Given the description of an element on the screen output the (x, y) to click on. 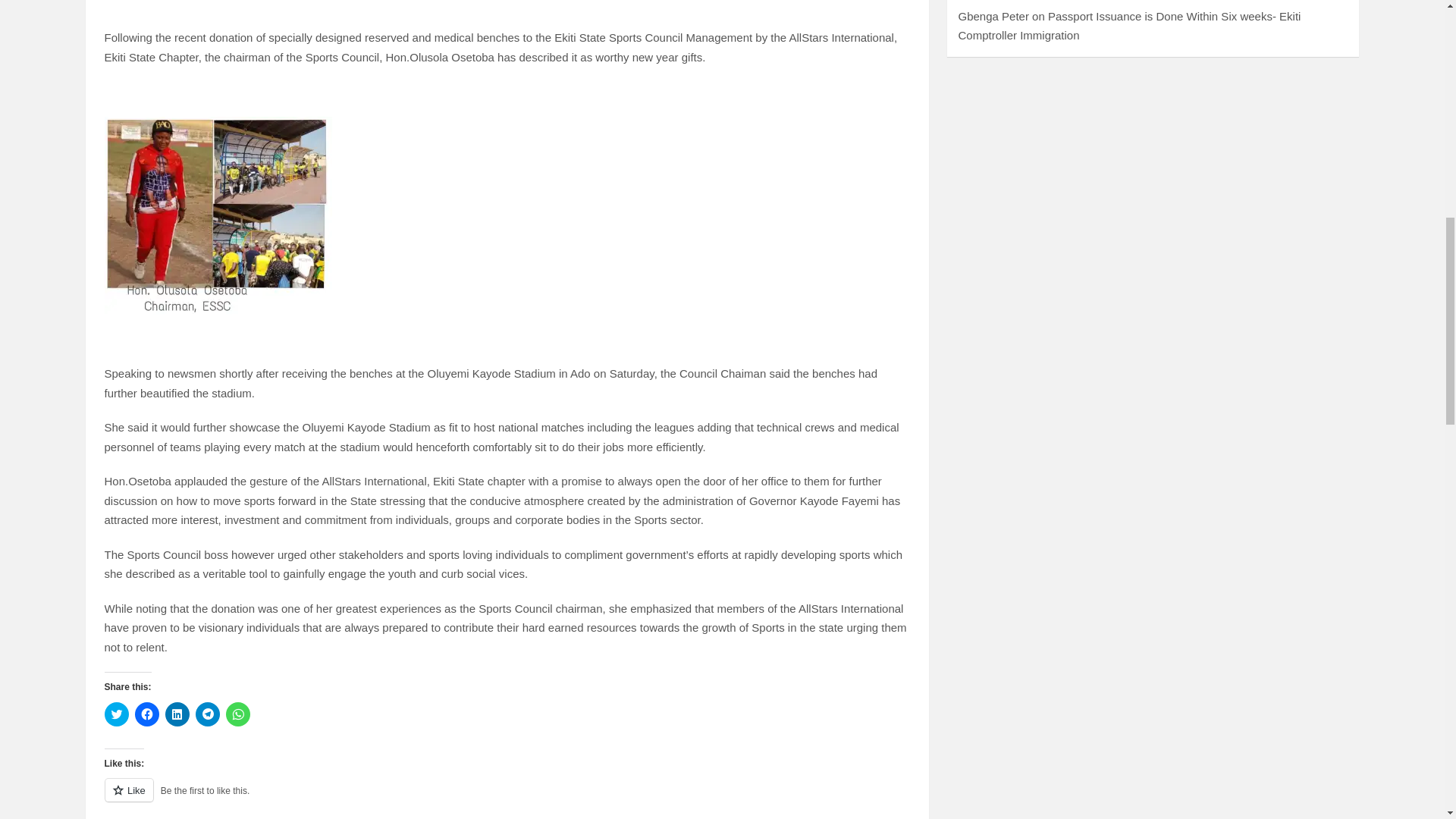
Click to share on LinkedIn (177, 713)
Click to share on Facebook (146, 713)
Click to share on WhatsApp (237, 713)
Click to share on Twitter (116, 713)
Like or Reblog (507, 798)
Click to share on Telegram (207, 713)
